Given the description of an element on the screen output the (x, y) to click on. 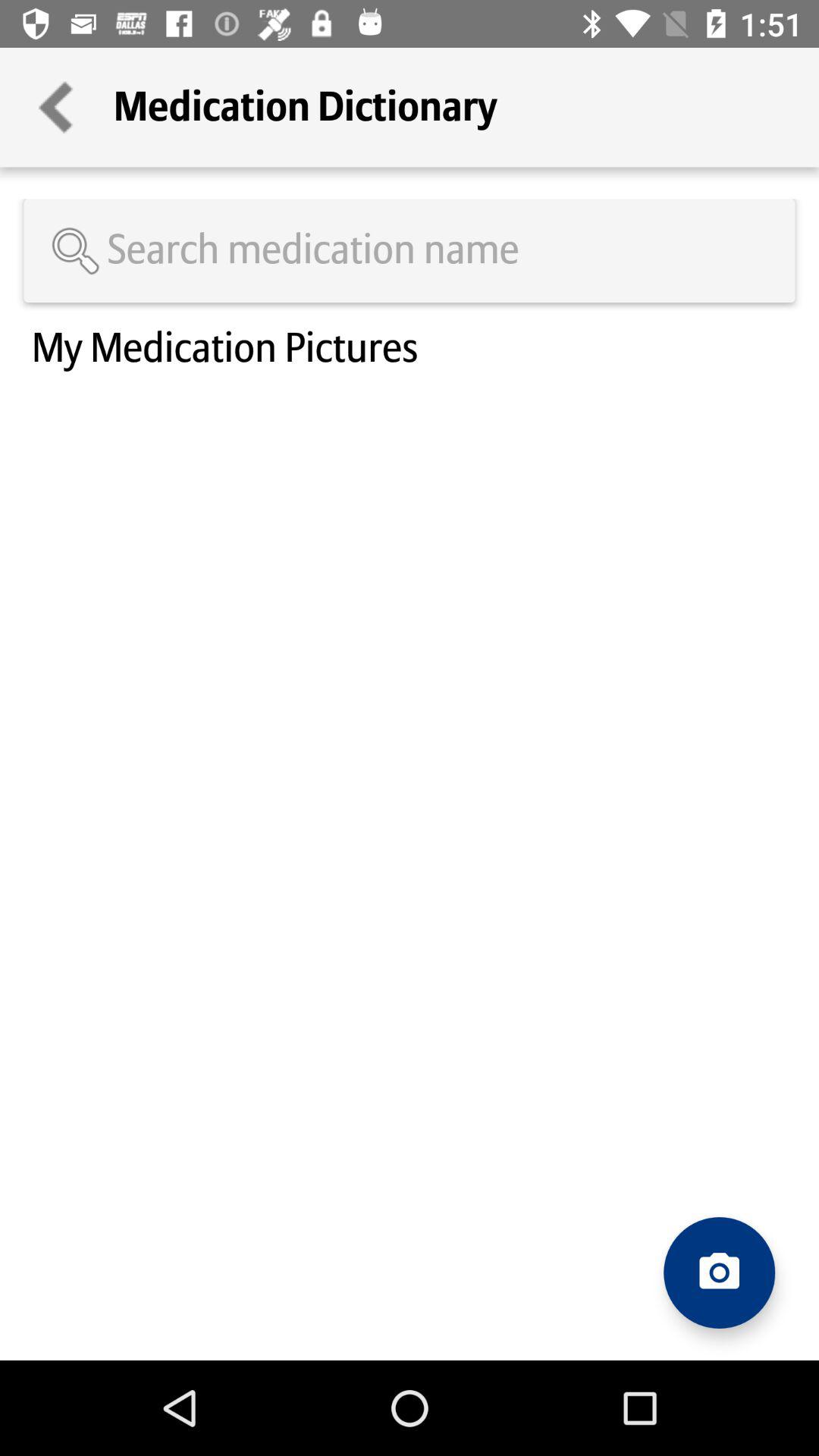
turn on the item to the left of medication dictionary (56, 107)
